Given the description of an element on the screen output the (x, y) to click on. 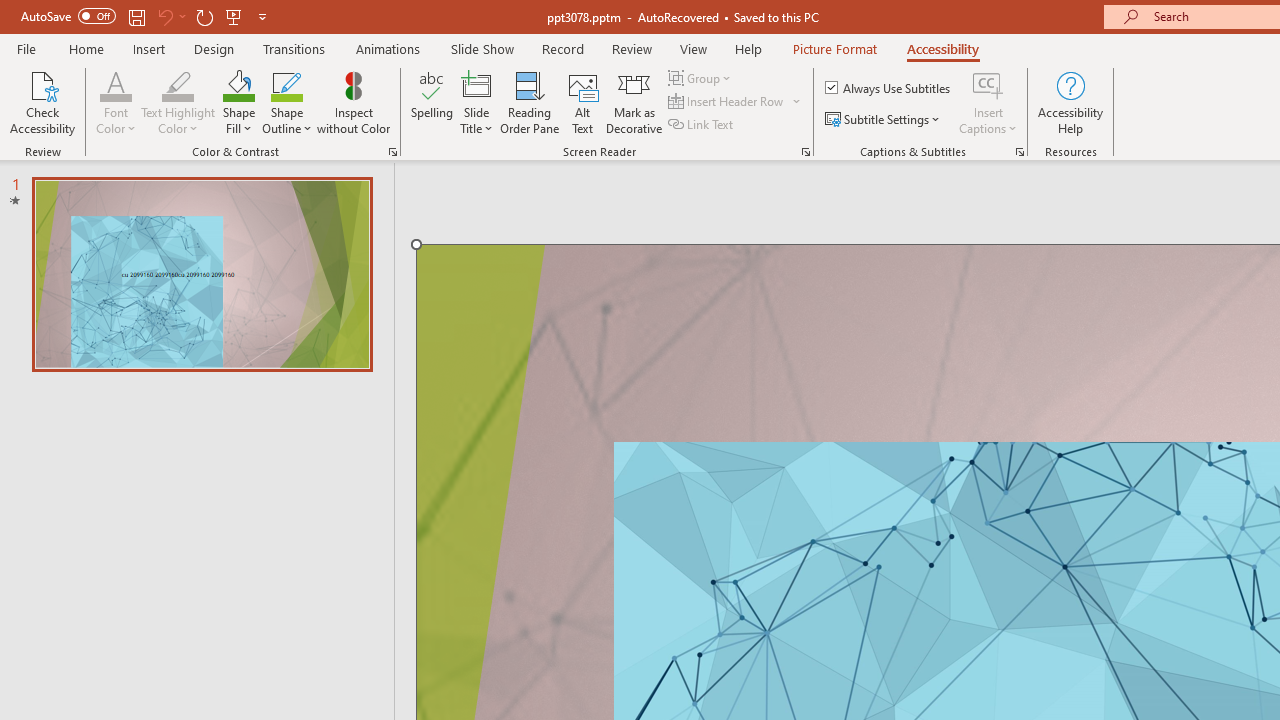
Accessibility Help (1070, 102)
